Given the description of an element on the screen output the (x, y) to click on. 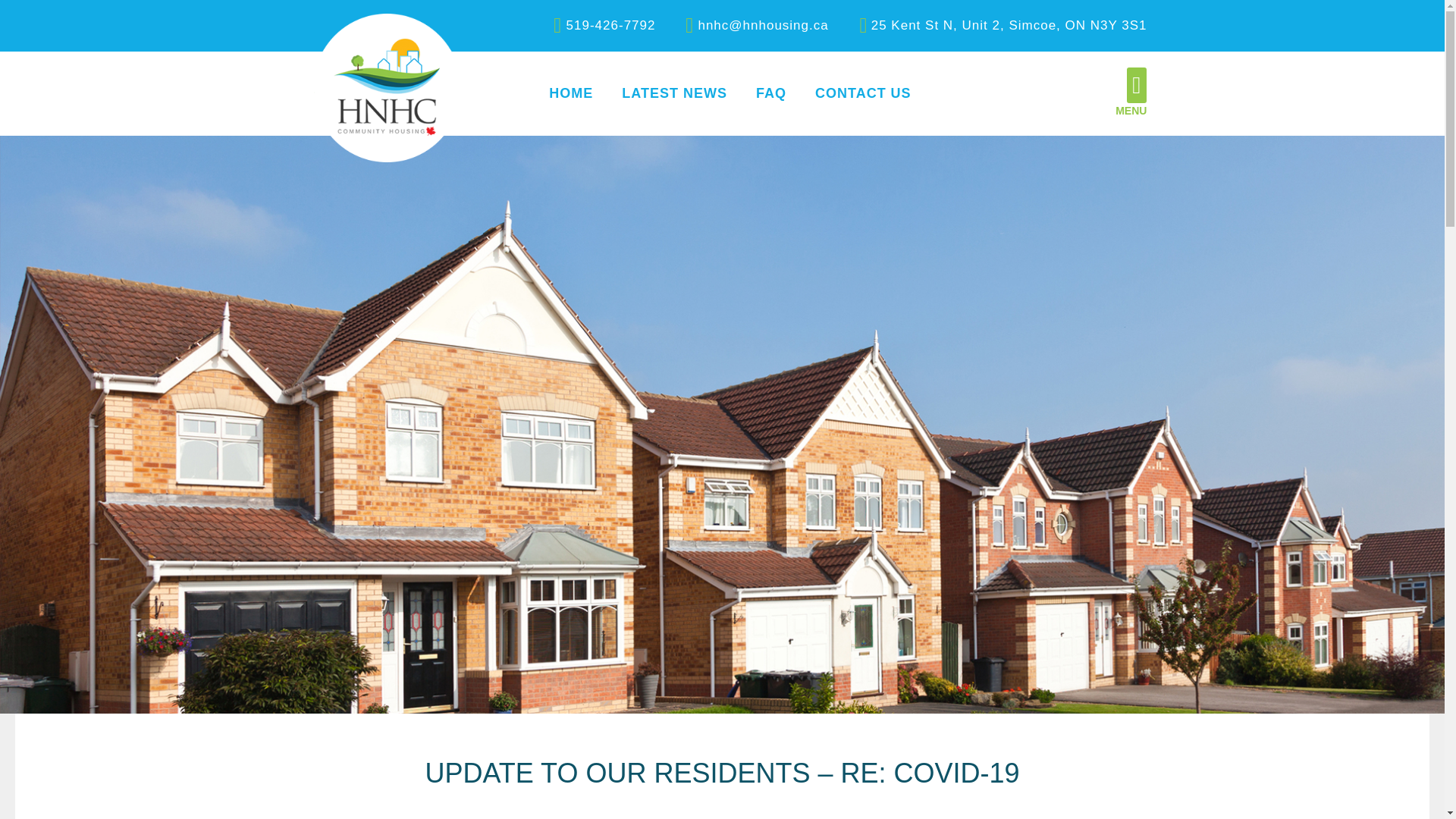
FAQ (770, 93)
LATEST NEWS (673, 93)
519-426-7792 (595, 25)
HOME (570, 93)
CONTACT US (863, 93)
